Given the description of an element on the screen output the (x, y) to click on. 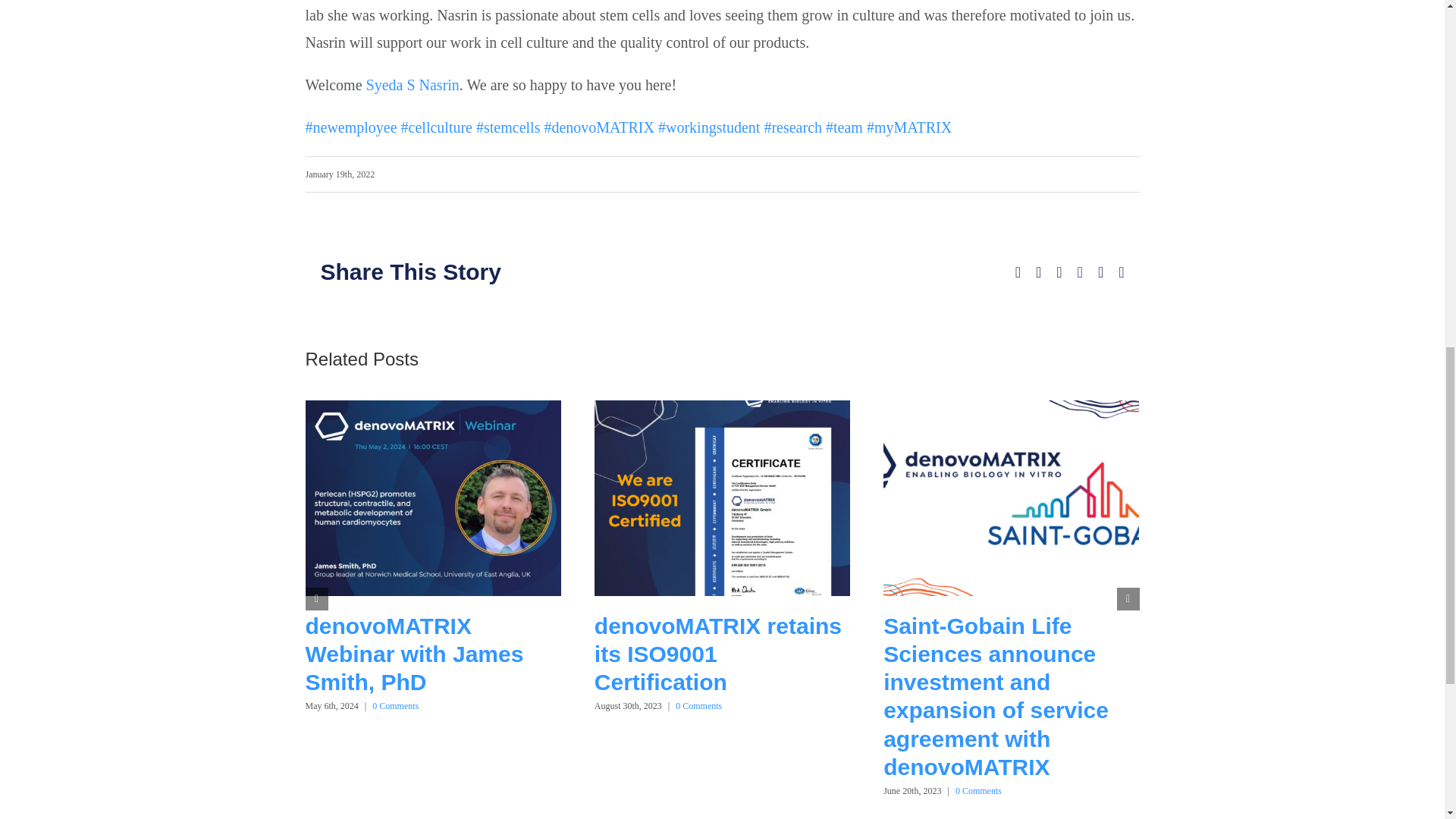
denovoMATRIX Webinar with James Smith, PhD (413, 653)
Syeda S Nasrin (413, 84)
denovoMATRIX retains its ISO9001 Certification (717, 653)
